Given the description of an element on the screen output the (x, y) to click on. 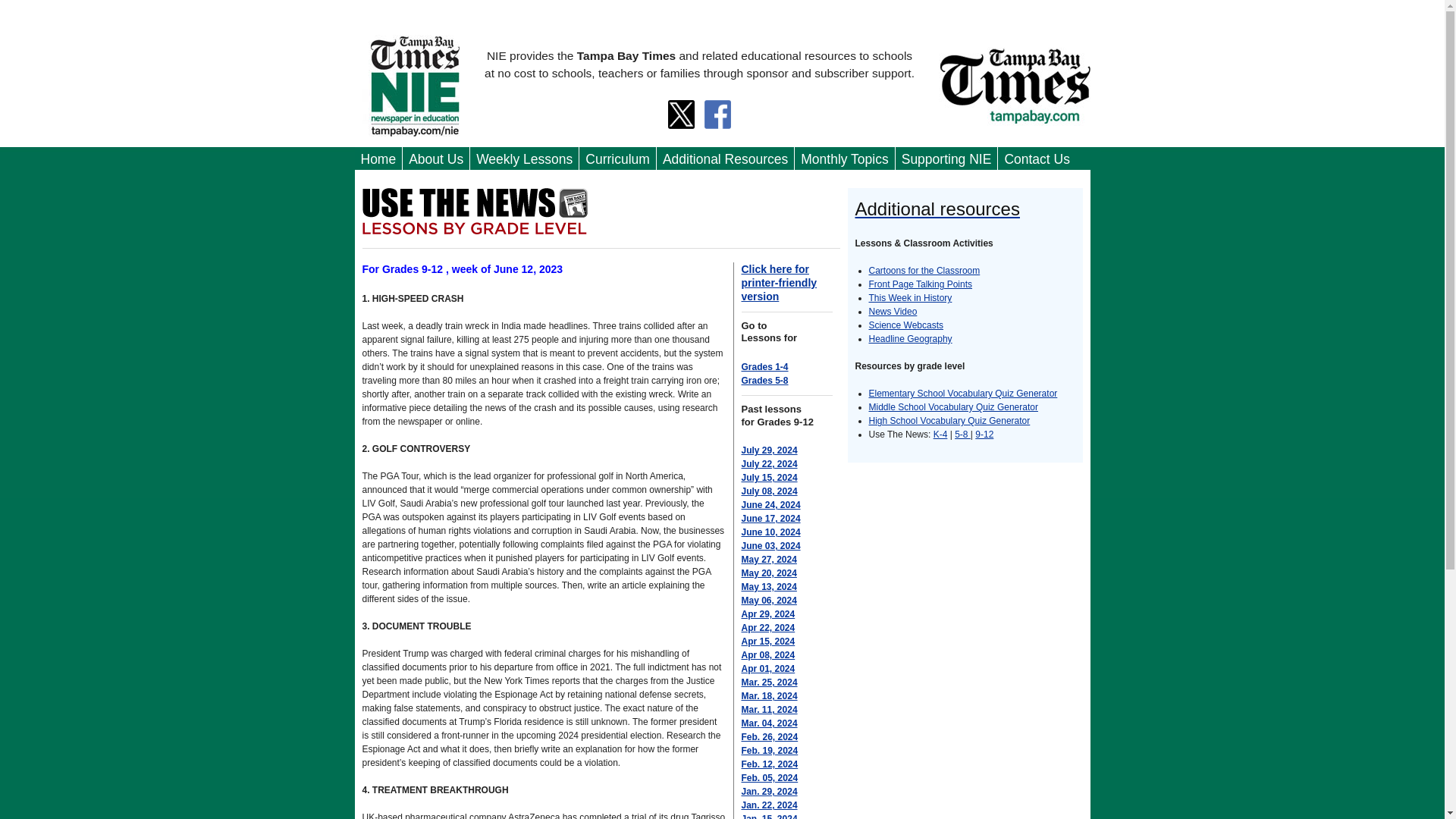
About Us (435, 159)
Weekly Lessons (524, 159)
Monthly Topics (843, 159)
Additional Resources (724, 159)
Home (379, 159)
Curriculum (617, 159)
